Given the description of an element on the screen output the (x, y) to click on. 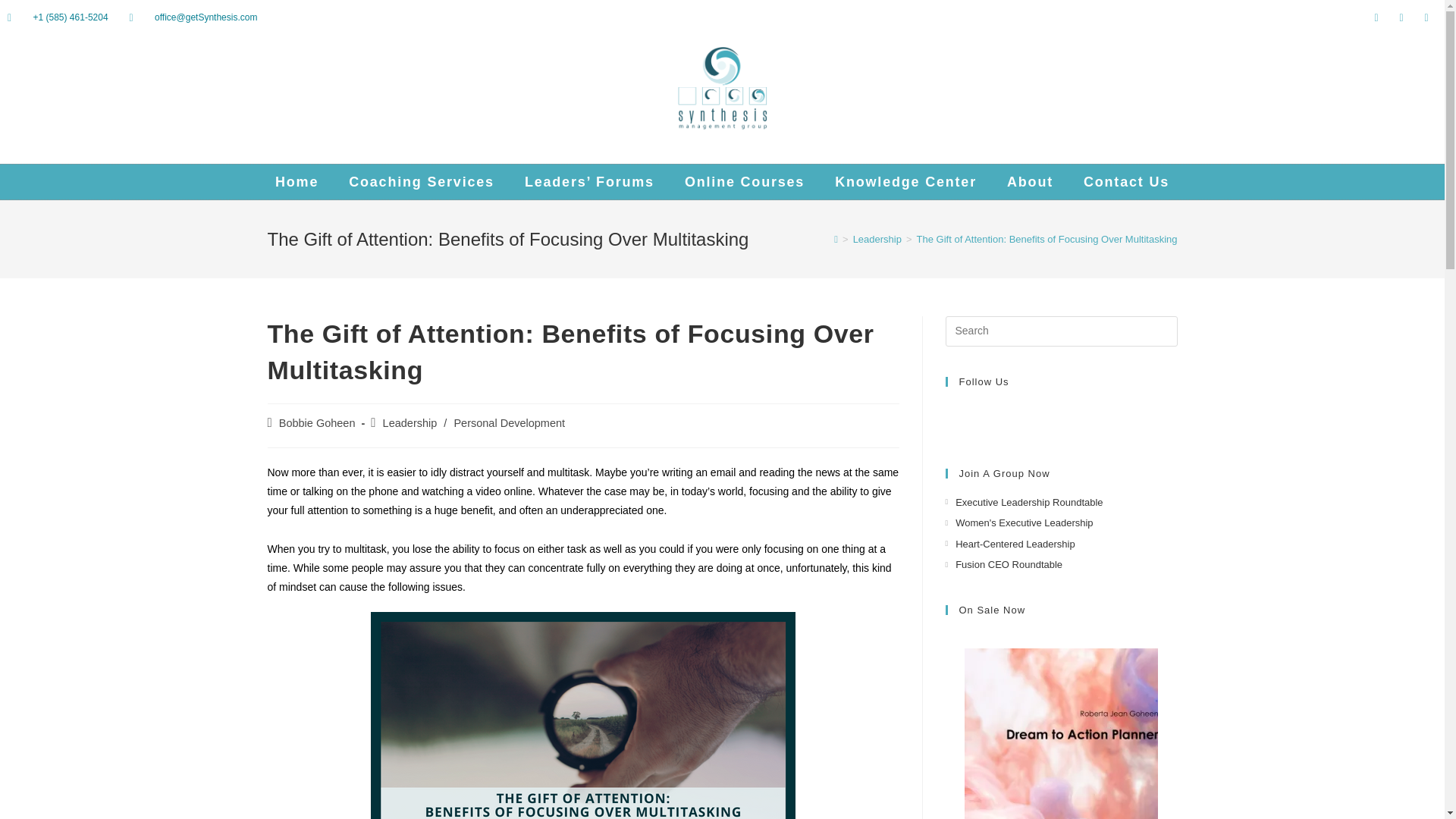
Contact Us (1126, 181)
Posts by Bobbie Goheen (317, 422)
Online Courses (744, 181)
Coaching Services (421, 181)
Home (296, 181)
About (1029, 181)
Knowledge Center (905, 181)
